Given the description of an element on the screen output the (x, y) to click on. 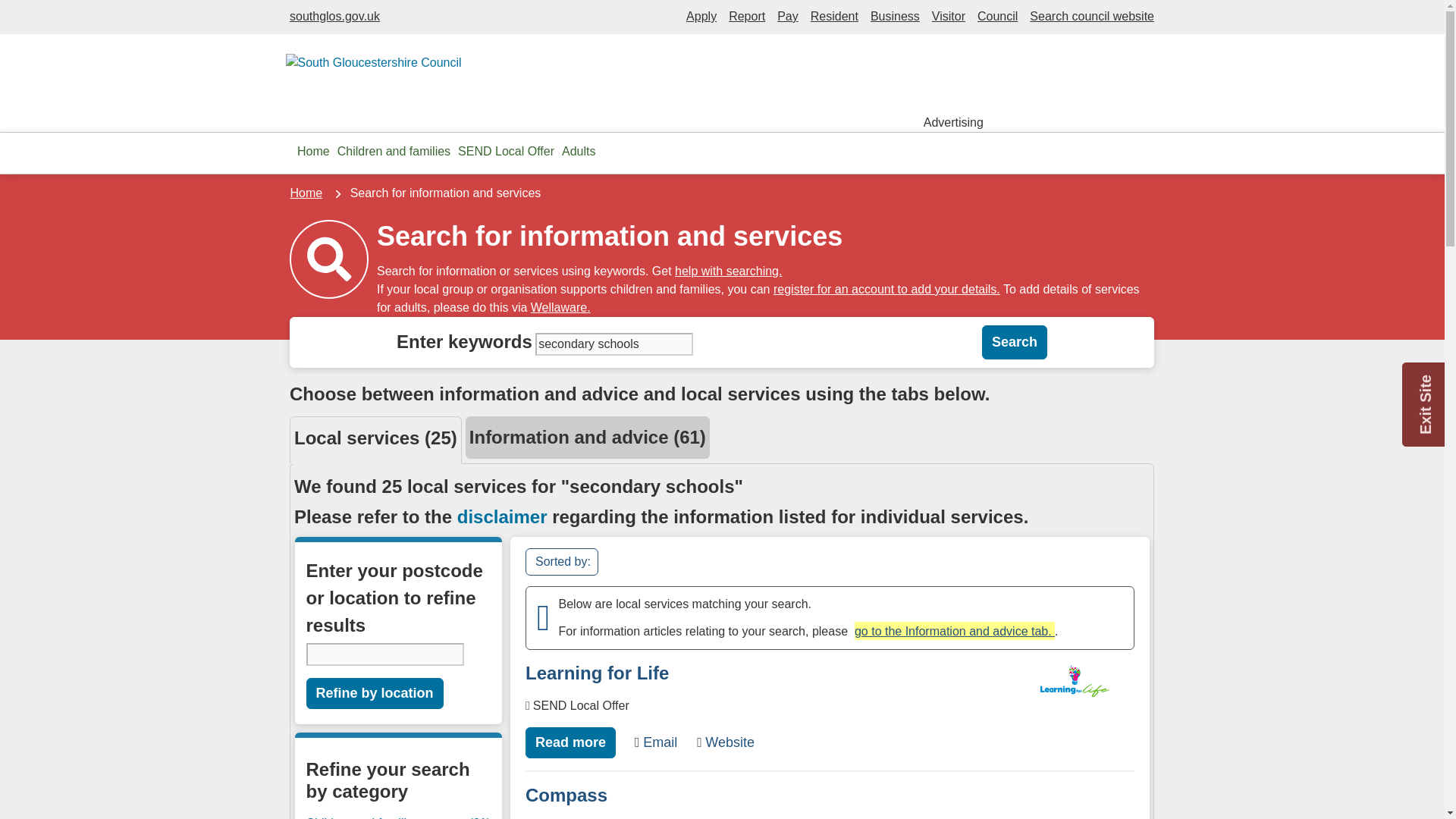
Adults (577, 152)
Pay (787, 15)
Visitor (948, 15)
 Email (655, 741)
SEND Local Offer (505, 152)
Wellaware. (561, 307)
Go to home page (313, 152)
SEND Local Offer section home (505, 152)
Refine by location (374, 693)
help with searching. (728, 270)
Children and families (379, 816)
Children and families (393, 152)
secondary schools (614, 343)
southglos.gov.uk (334, 15)
Children and families section home (393, 152)
